Given the description of an element on the screen output the (x, y) to click on. 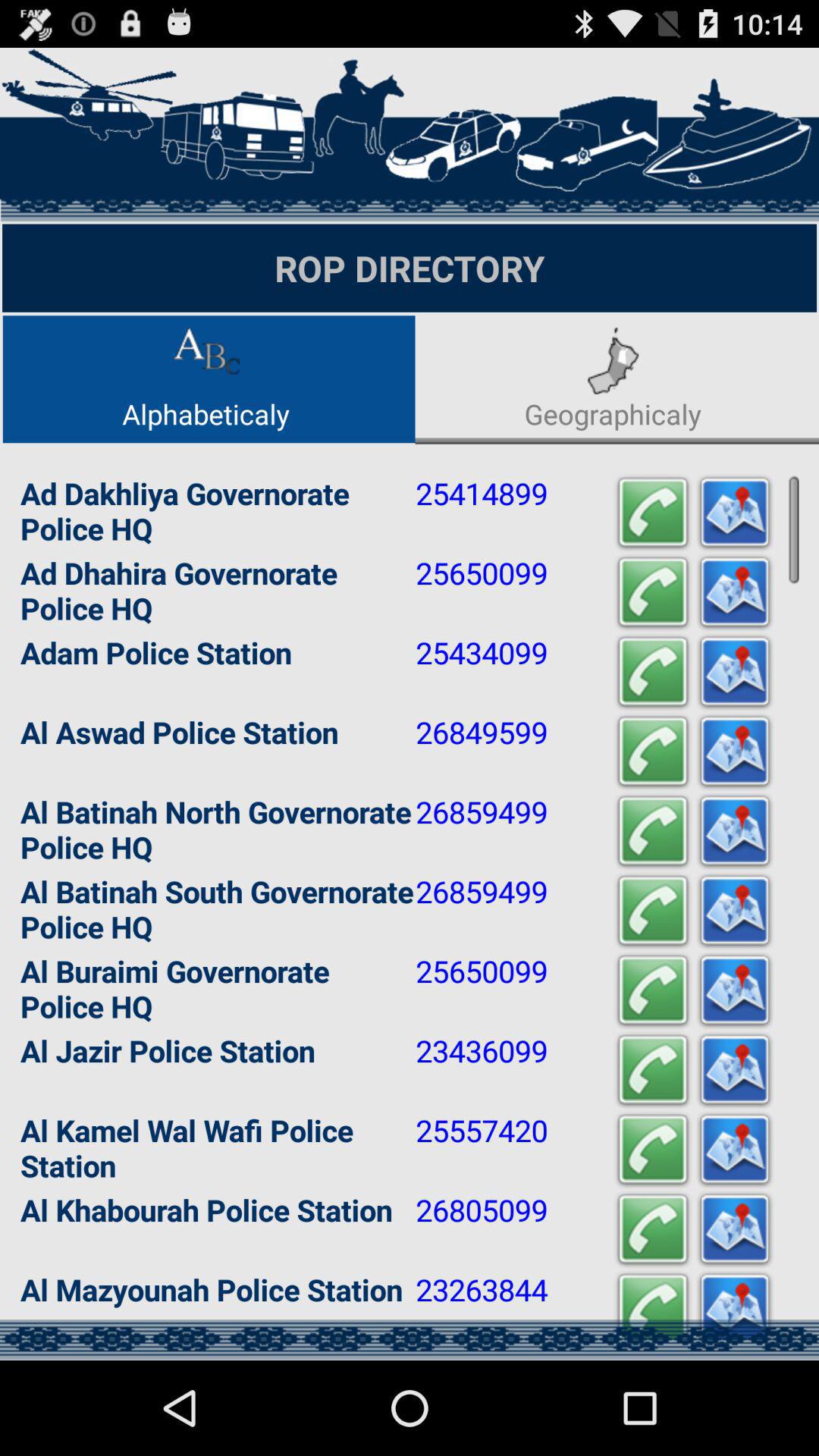
go to directions (734, 1149)
